Given the description of an element on the screen output the (x, y) to click on. 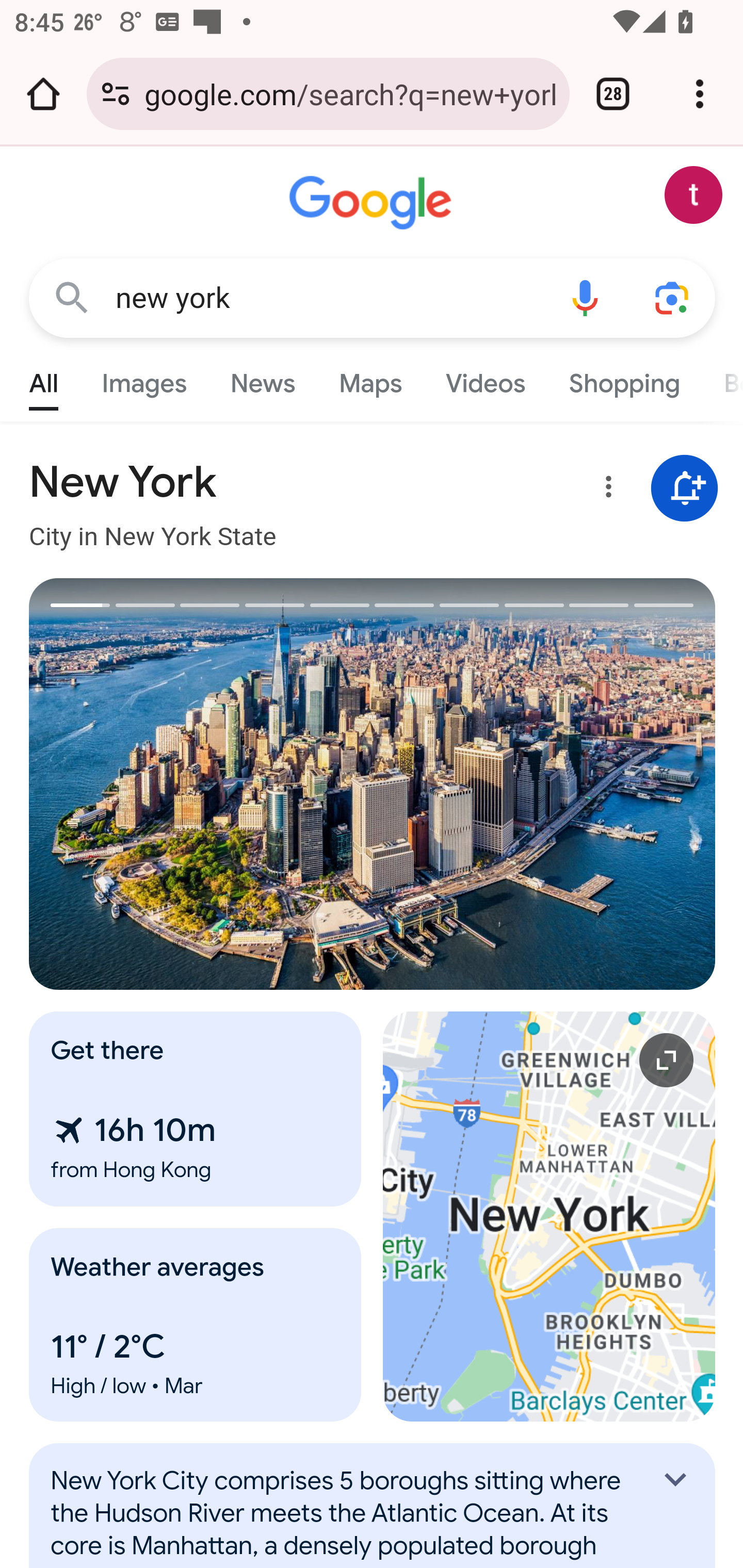
Open the home page (43, 93)
Connection is secure (115, 93)
Switch or close tabs (612, 93)
Customize and control Google Chrome (699, 93)
Google (372, 203)
Google Search (71, 296)
Search using your camera or photos (672, 296)
new york (328, 297)
Images (144, 378)
News (262, 378)
Maps (369, 378)
Videos (485, 378)
Shopping (623, 378)
Get notifications about New York (684, 489)
More options (605, 489)
Expand map (549, 1216)
Weather averages 11° / 2°C High / low • Mar (195, 1324)
